Given the description of an element on the screen output the (x, y) to click on. 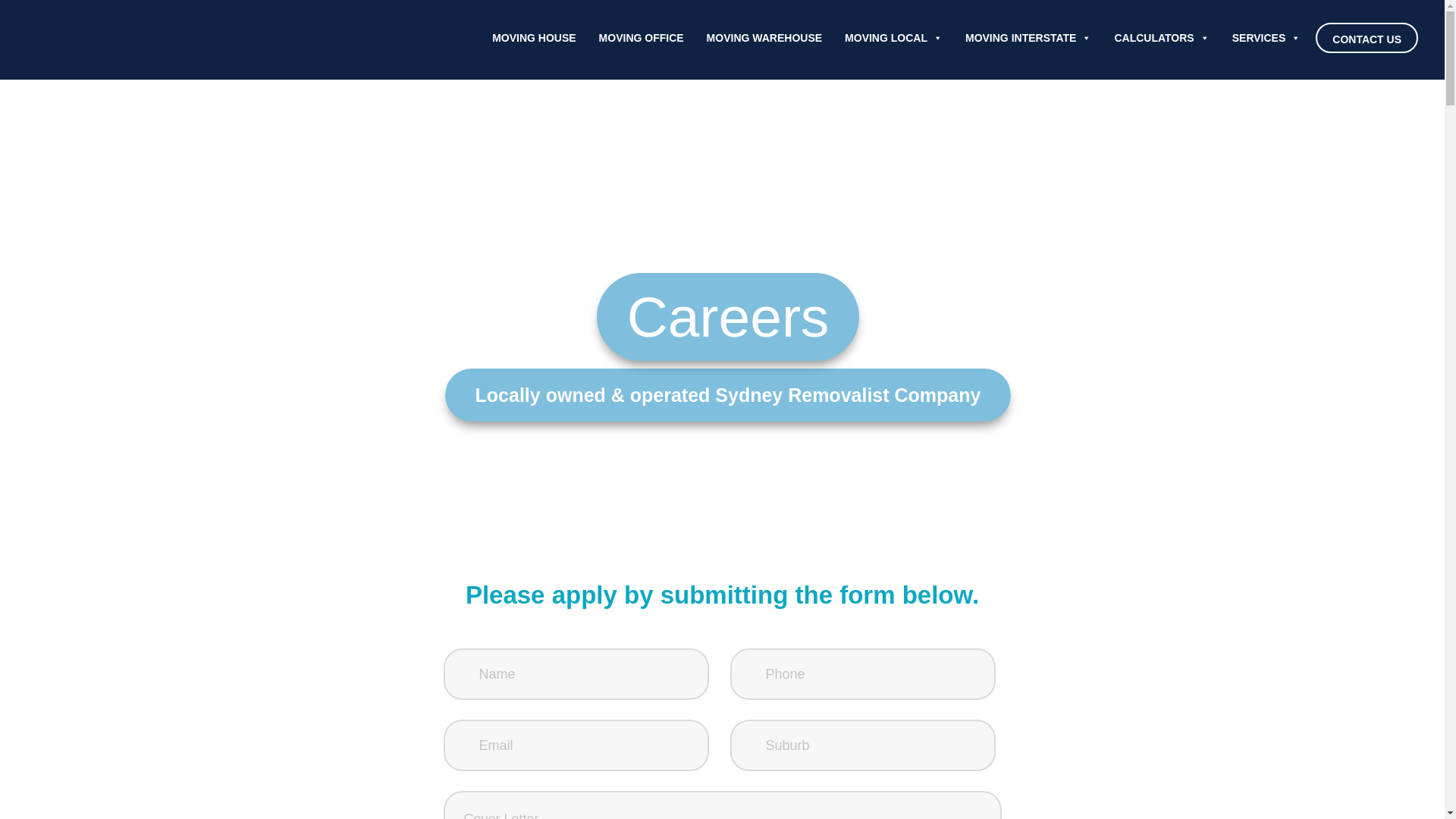
MOVING INTERSTATE (1028, 37)
MOVING WAREHOUSE (763, 37)
MOVING HOUSE (533, 37)
MOVING OFFICE (641, 37)
MOVING LOCAL (893, 37)
